Given the description of an element on the screen output the (x, y) to click on. 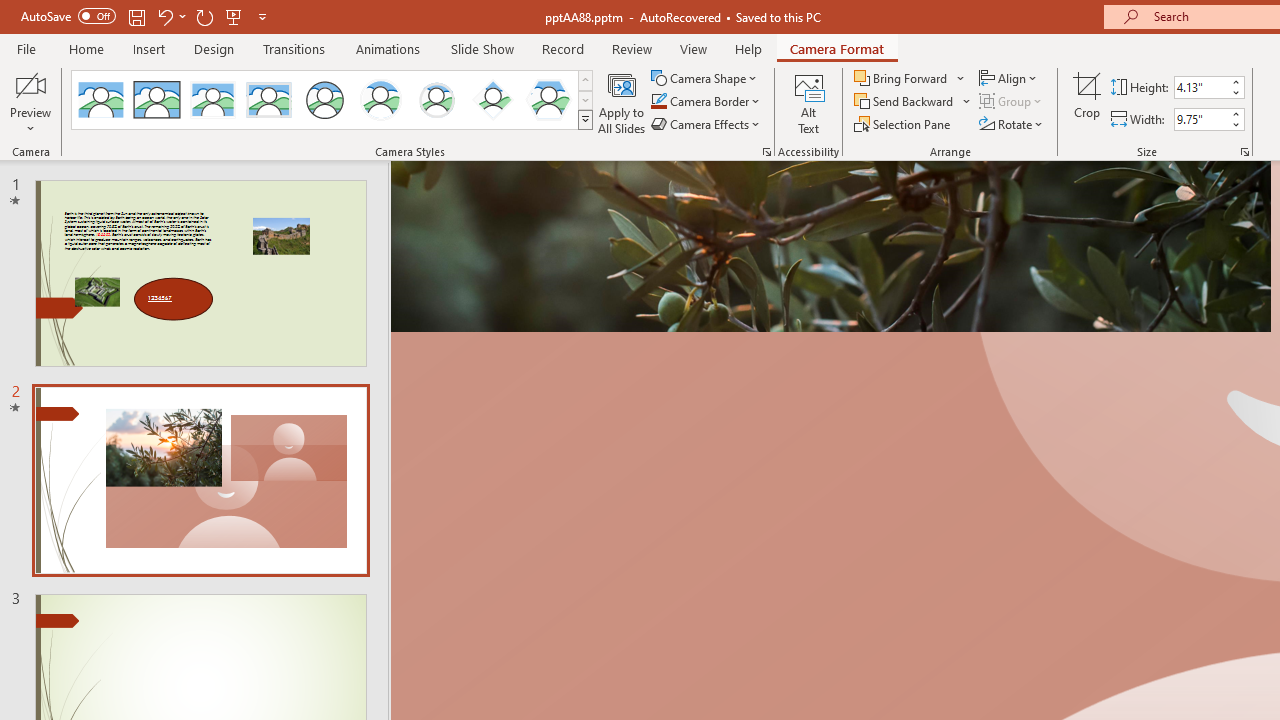
Rotate (1012, 124)
No Style (100, 100)
Camera Effects (706, 124)
Simple Frame Rectangle (157, 100)
Enable Camera Preview (30, 84)
Bring Forward (910, 78)
Camera Border Teal, Accent 1 (658, 101)
Camera Shape (705, 78)
